Given the description of an element on the screen output the (x, y) to click on. 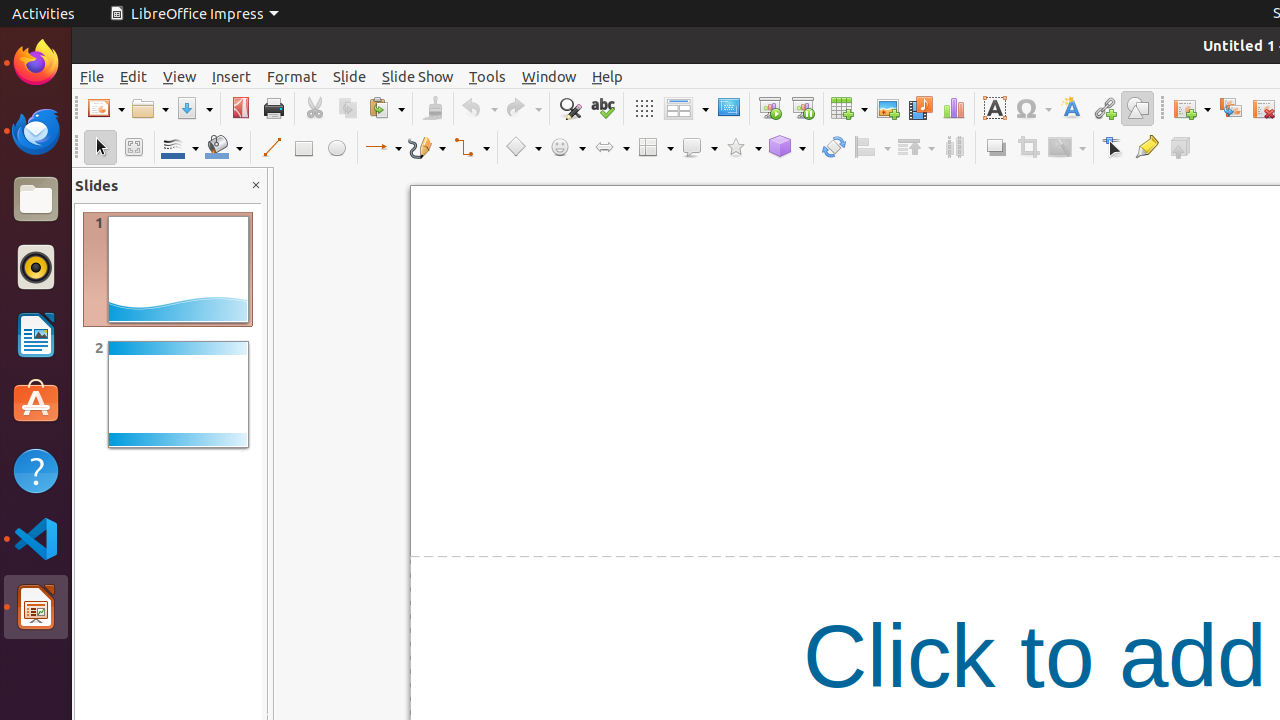
Select Element type: push-button (100, 147)
Rotate Element type: push-button (833, 147)
Media Element type: push-button (920, 108)
Display Views Element type: push-button (686, 109)
Fontwork Style Element type: toggle-button (1071, 108)
